Given the description of an element on the screen output the (x, y) to click on. 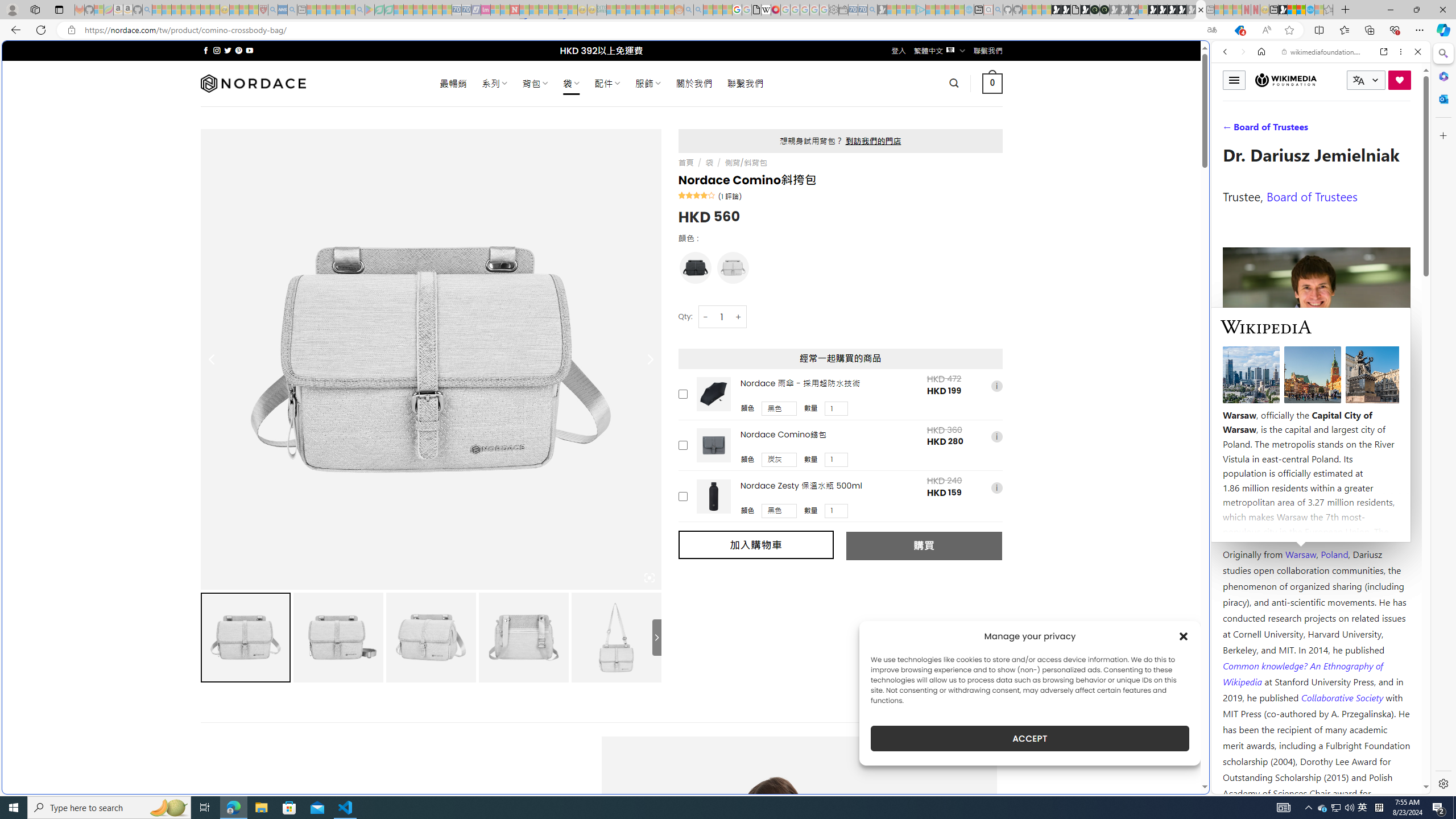
Board of Trustees (1311, 195)
Follow on Facebook (205, 50)
Poland (1334, 554)
Sign in to your account - Sleeping (1143, 9)
Show translate options (1212, 29)
